Given the description of an element on the screen output the (x, y) to click on. 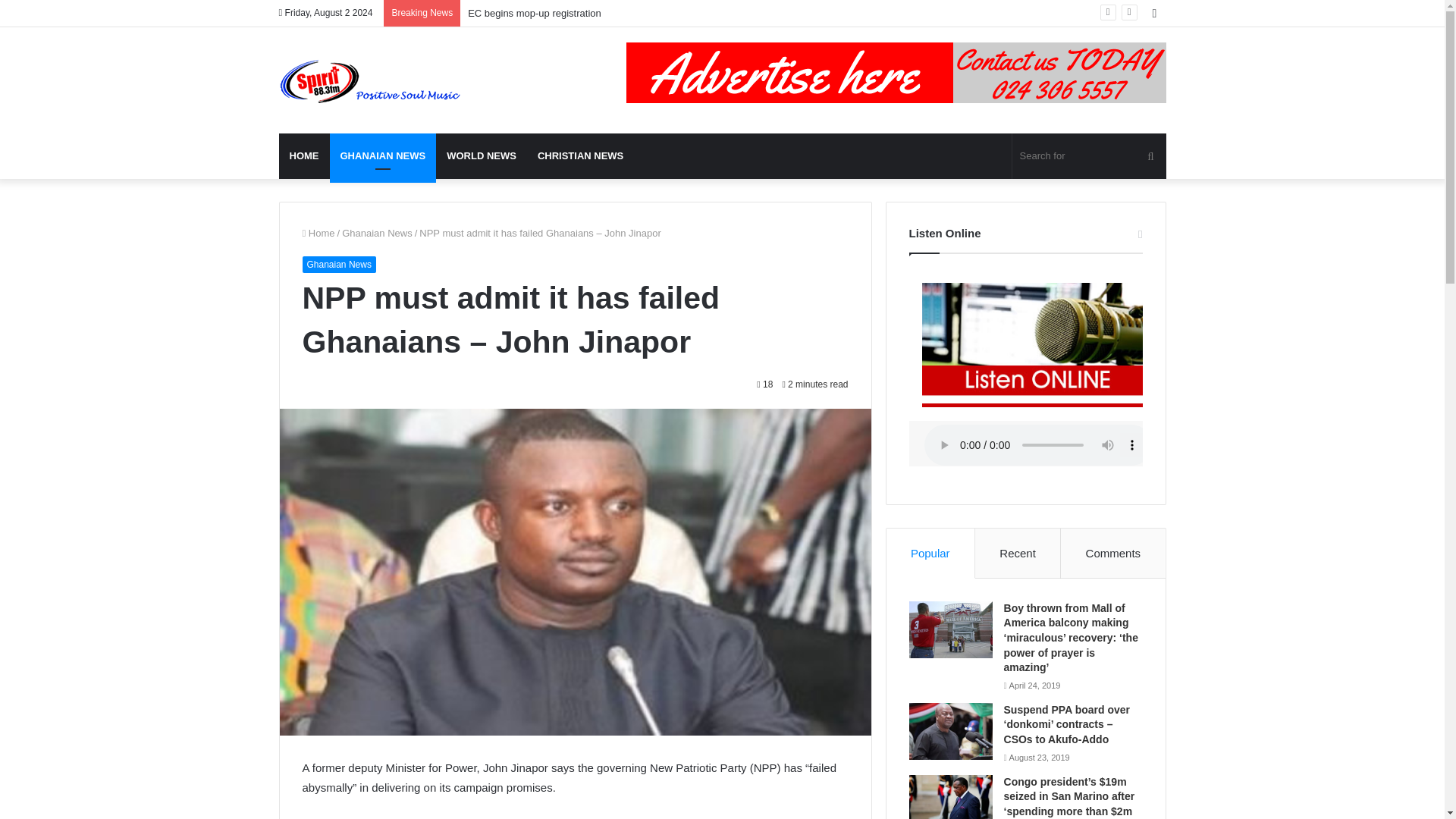
Ghanaian News (377, 233)
Ghanaian News (338, 264)
GHANAIAN NEWS (382, 156)
Popular (930, 553)
WORLD NEWS (481, 156)
Spirit Fm (370, 80)
HOME (304, 156)
Search for (1088, 156)
CHRISTIAN NEWS (580, 156)
Home (317, 233)
Recent (1018, 553)
Comments (1112, 553)
EC begins mop-up registration (534, 12)
